Given the description of an element on the screen output the (x, y) to click on. 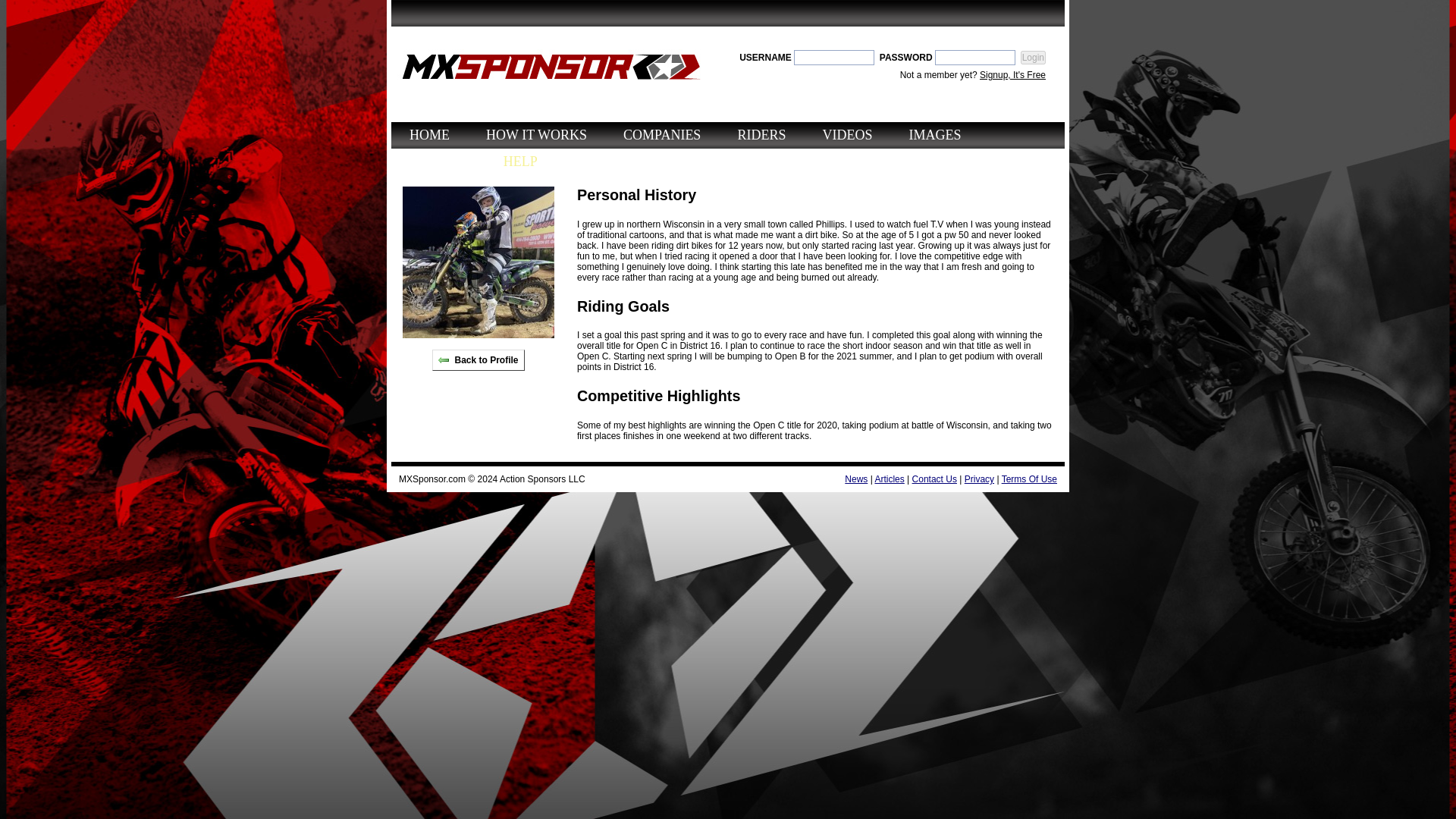
News (855, 479)
HOW IT WORKS (536, 135)
Signup, It's Free (1012, 74)
RIDERS (761, 135)
IMAGES (934, 135)
COMPANIES (661, 135)
HOME (429, 135)
SAVINGS (438, 161)
Back to Profile (478, 360)
VIDEOS (847, 135)
Contact Us (934, 479)
HELP (520, 161)
Articles (889, 479)
Action Sponsors LLC (542, 479)
Terms Of Use (1029, 479)
